Given the description of an element on the screen output the (x, y) to click on. 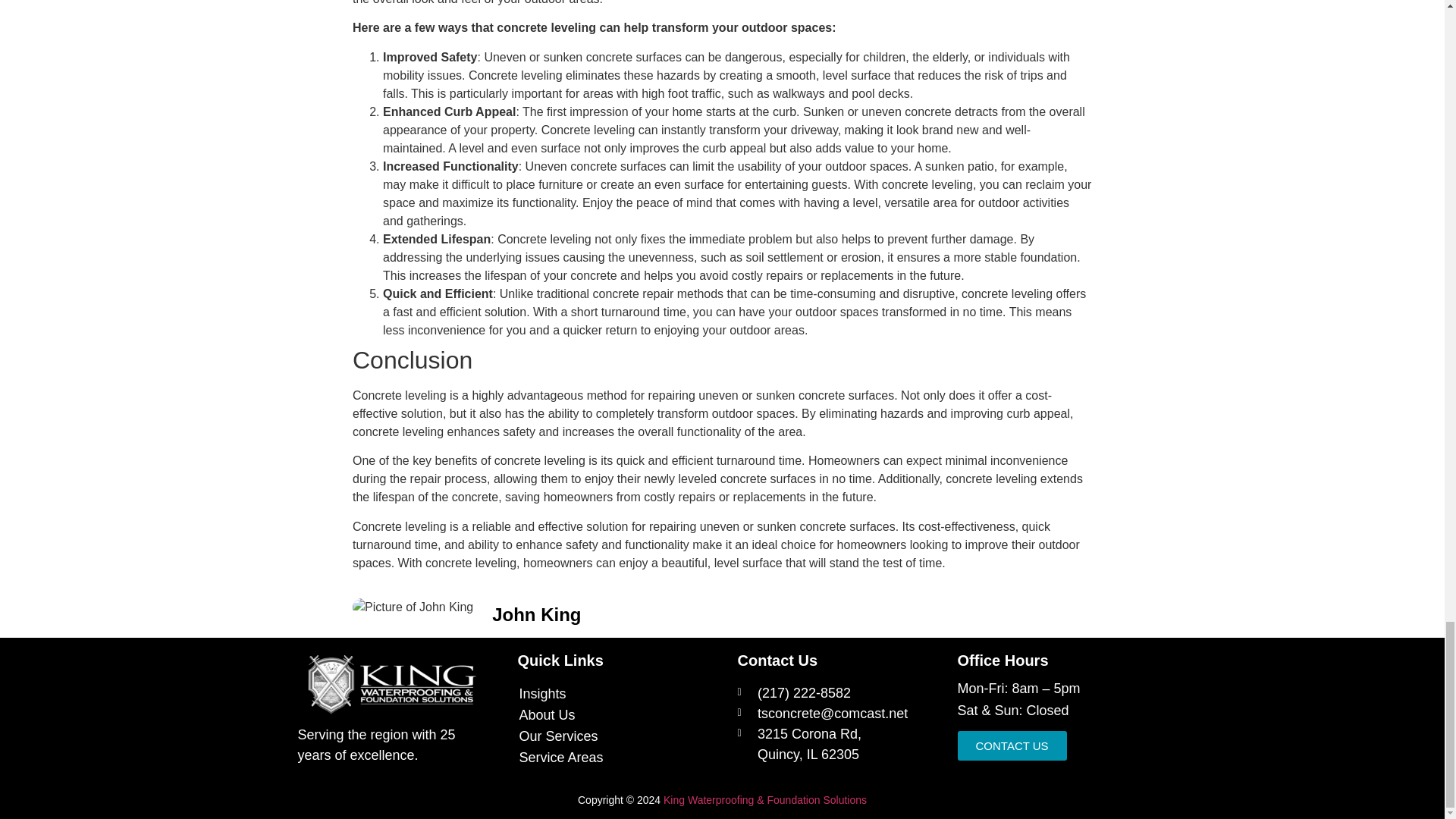
CONTACT US (831, 743)
Insights (1010, 745)
Service Areas (559, 693)
About Us (559, 757)
Our Services (559, 714)
